Given the description of an element on the screen output the (x, y) to click on. 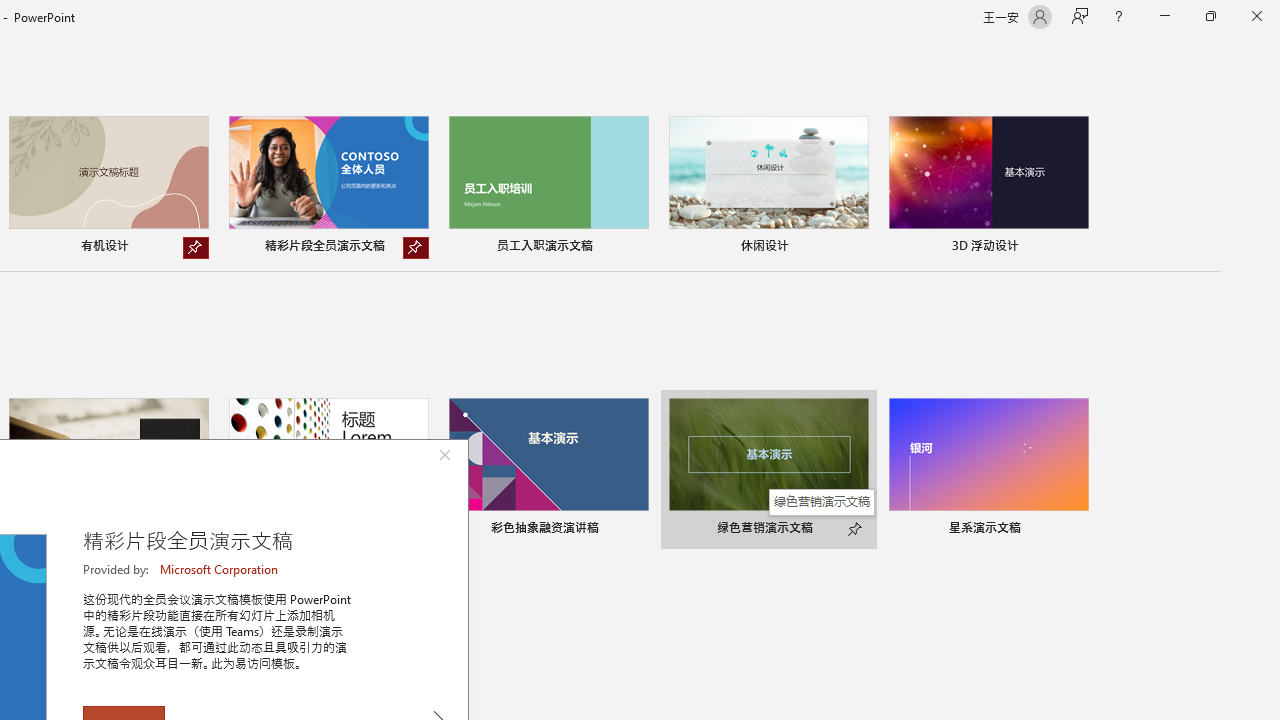
Unpin from list (415, 247)
